Given the description of an element on the screen output the (x, y) to click on. 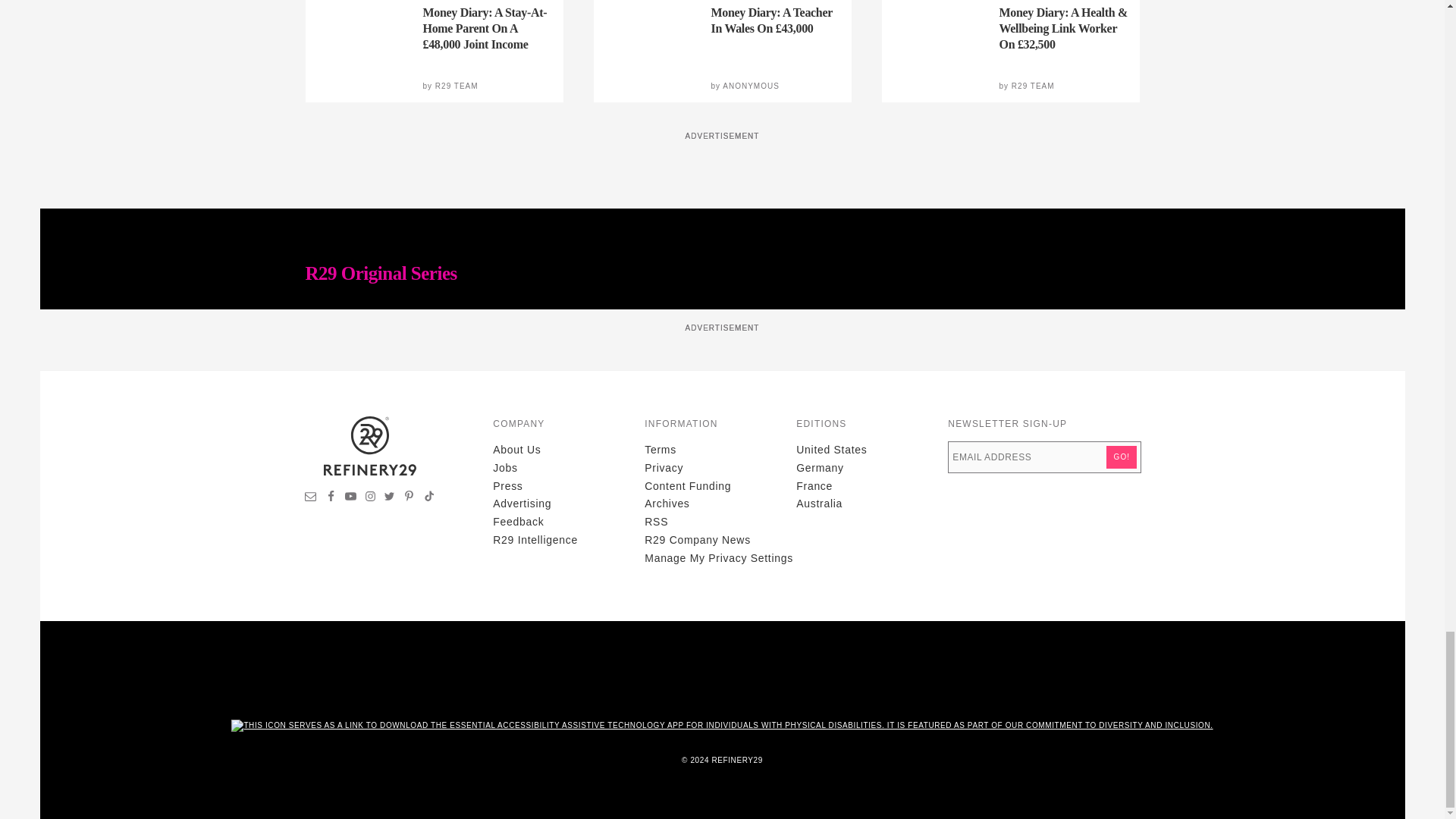
Sign up for newsletters (310, 498)
Visit Refinery29 on TikTok (428, 498)
Visit Refinery29 on YouTube (350, 498)
